Given the description of an element on the screen output the (x, y) to click on. 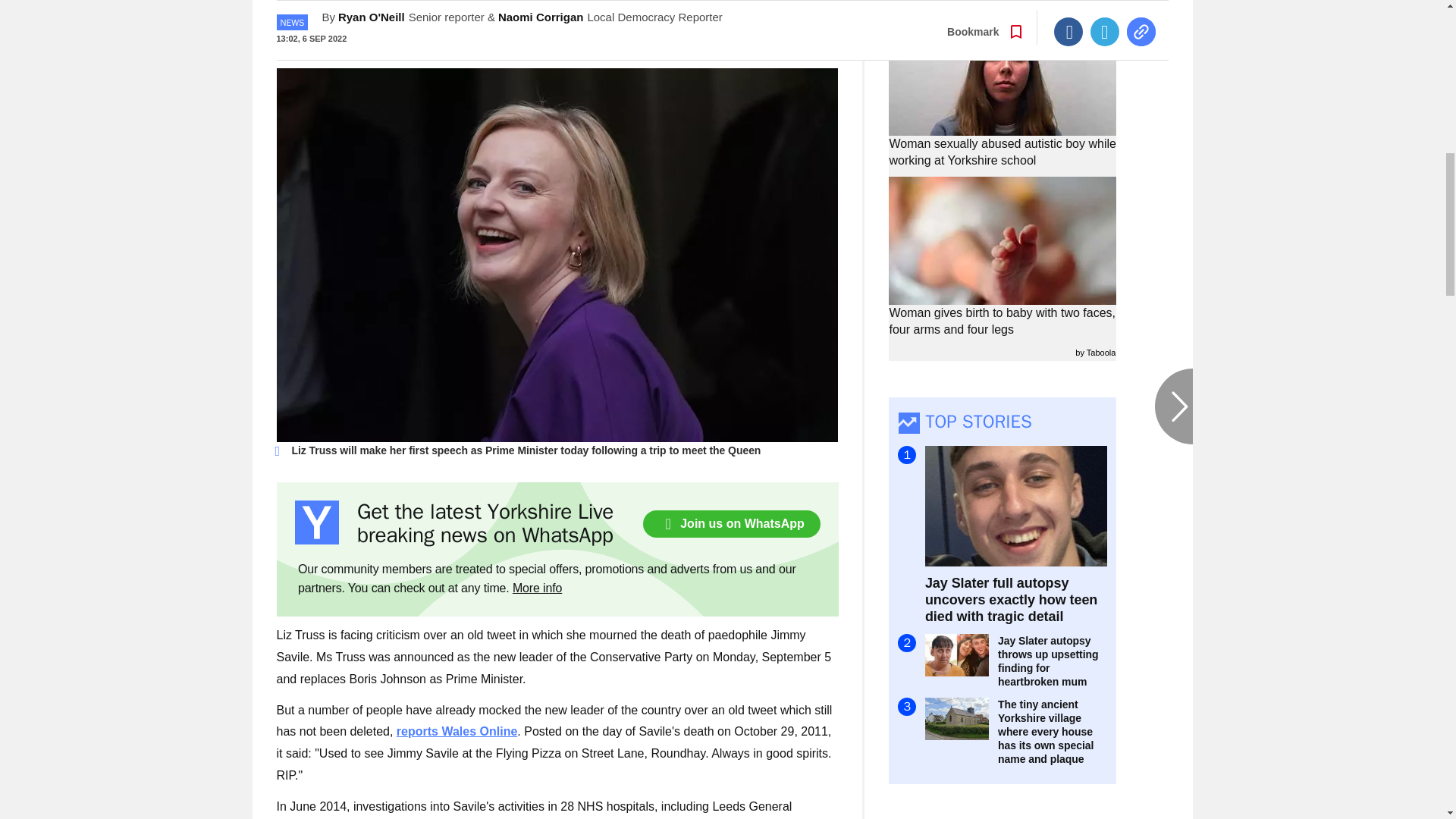
Go (730, 34)
